Given the description of an element on the screen output the (x, y) to click on. 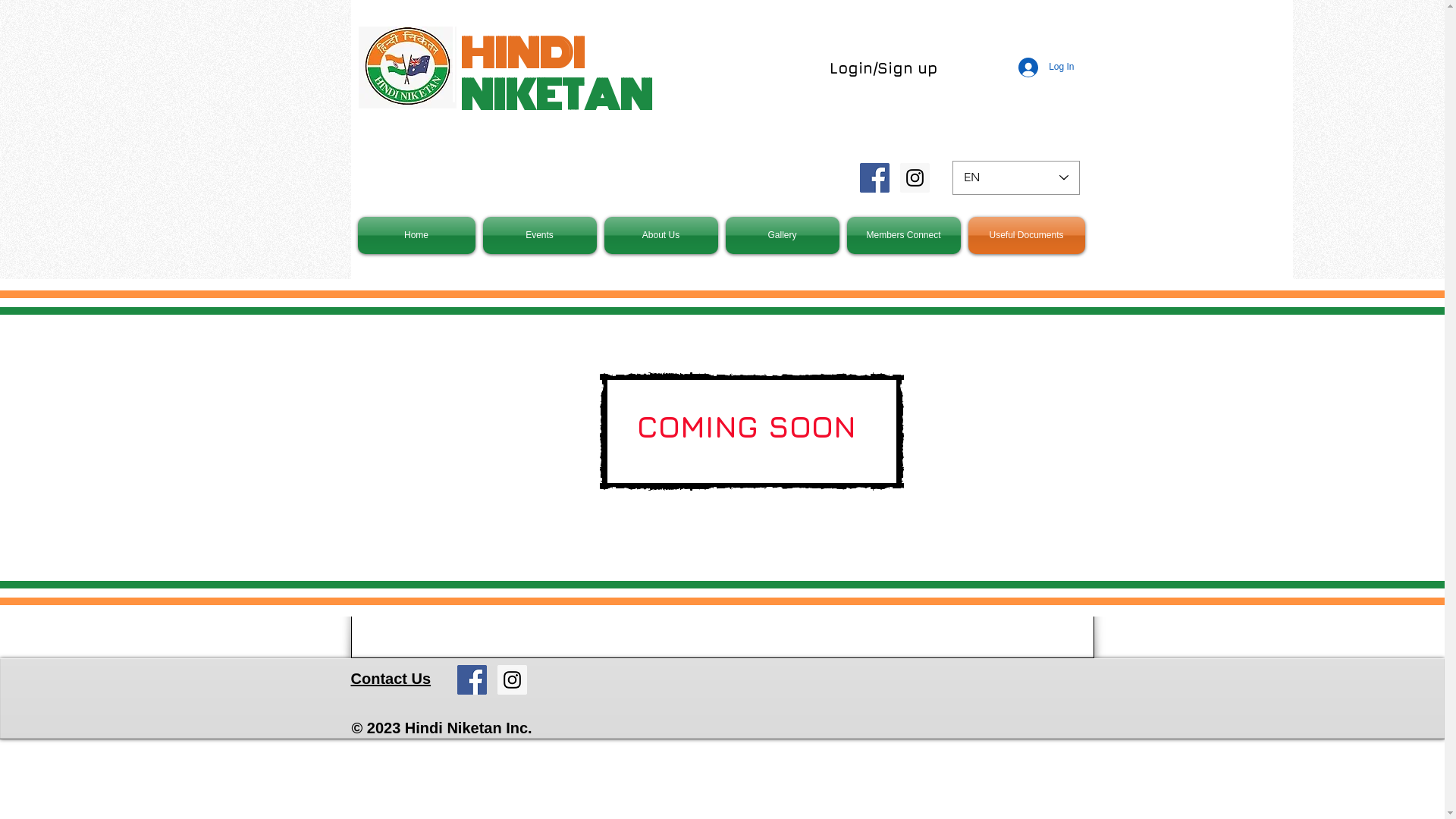
Useful Documents Element type: text (1024, 235)
NIKETAN Element type: text (555, 95)
HINDI Element type: text (521, 53)
Contact Us Element type: text (390, 678)
Members Connect Element type: text (903, 235)
Log In Element type: text (1045, 67)
Gallery Element type: text (782, 235)
Home Element type: text (418, 235)
About Us Element type: text (660, 235)
Login/Sign up Element type: text (883, 68)
Events Element type: text (539, 235)
